Given the description of an element on the screen output the (x, y) to click on. 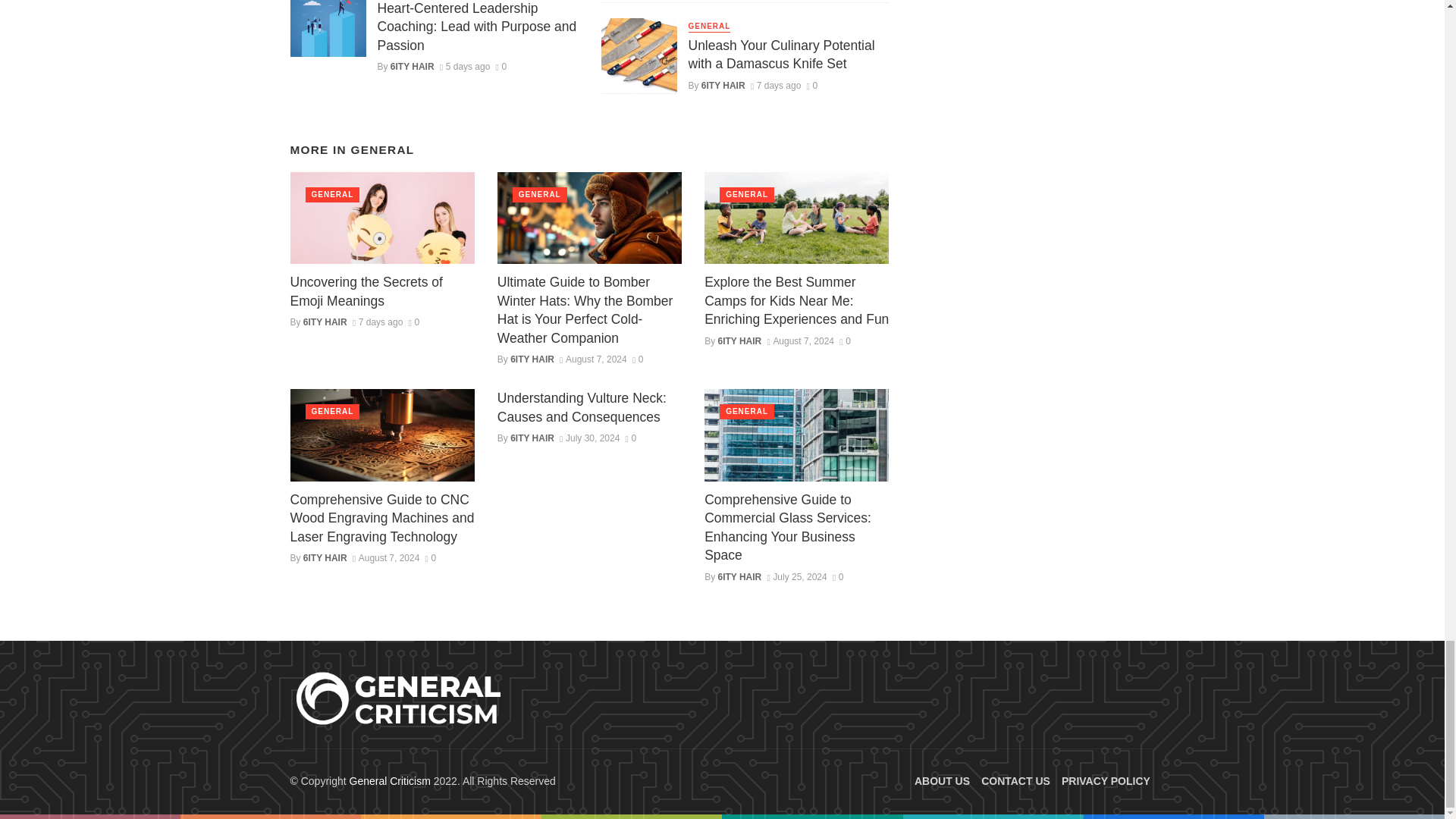
0 Comments (501, 66)
August 14, 2024 at 7:08 am (776, 85)
August 16, 2024 at 6:54 am (464, 66)
6ITY HAIR (411, 66)
